Given the description of an element on the screen output the (x, y) to click on. 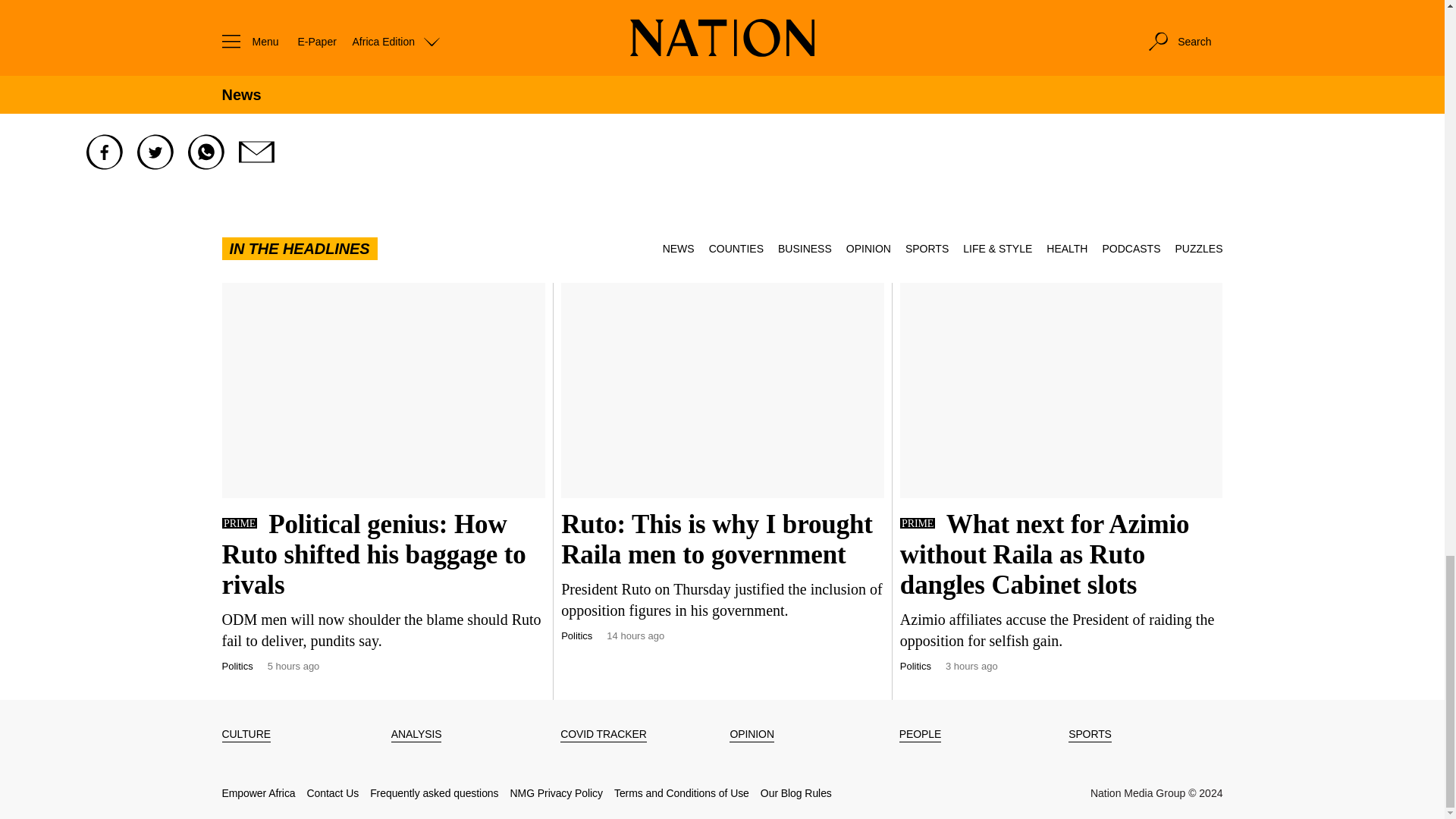
PRIME (238, 522)
PRIME (916, 522)
